Given the description of an element on the screen output the (x, y) to click on. 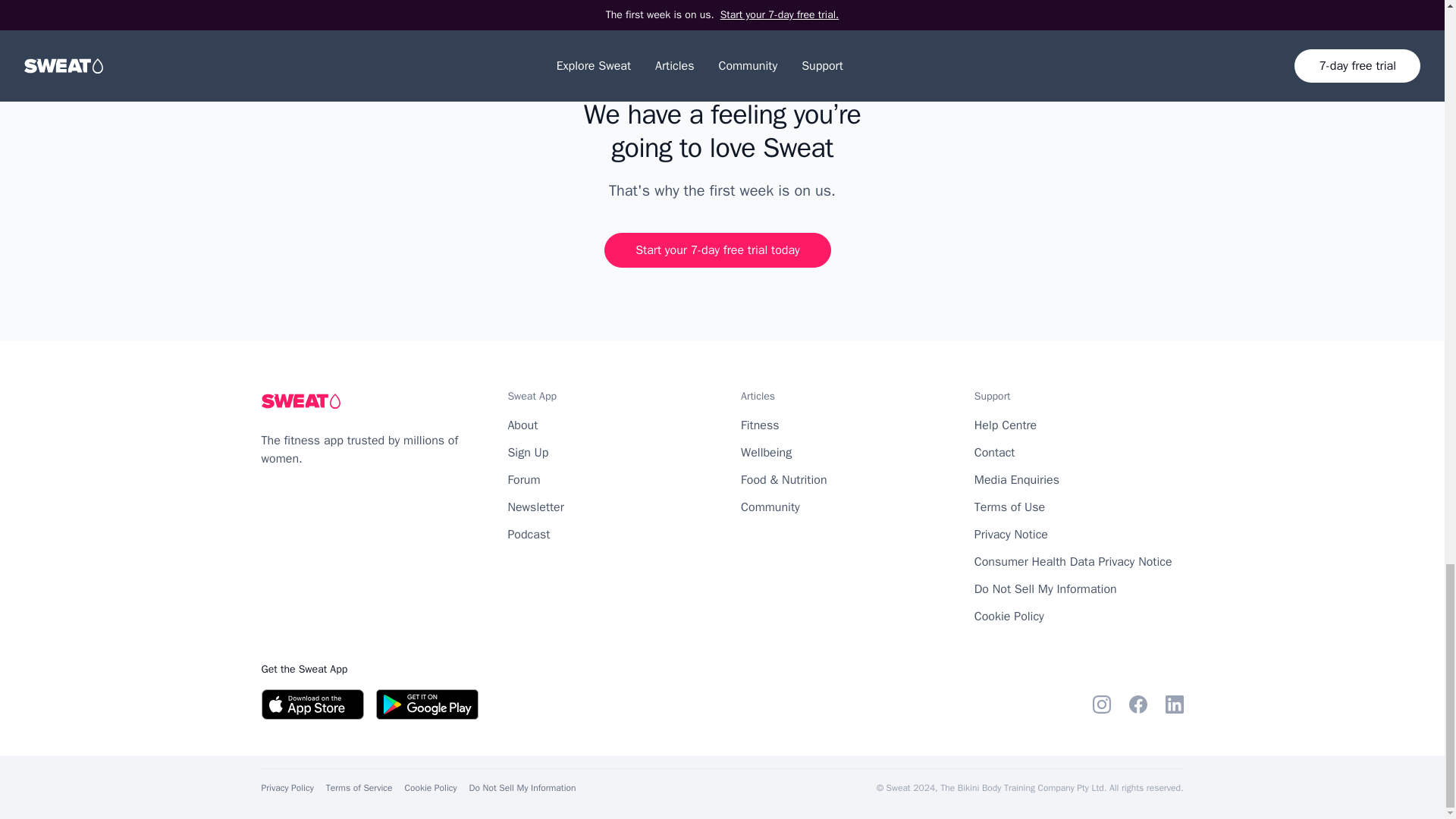
About (521, 425)
Fitness (759, 425)
Sign Up (527, 452)
Contact (994, 452)
Newsletter (534, 507)
Start your 7-day free trial today (717, 249)
Forum (523, 479)
Help Centre (1005, 425)
Community (770, 507)
Wellbeing (766, 452)
